Given the description of an element on the screen output the (x, y) to click on. 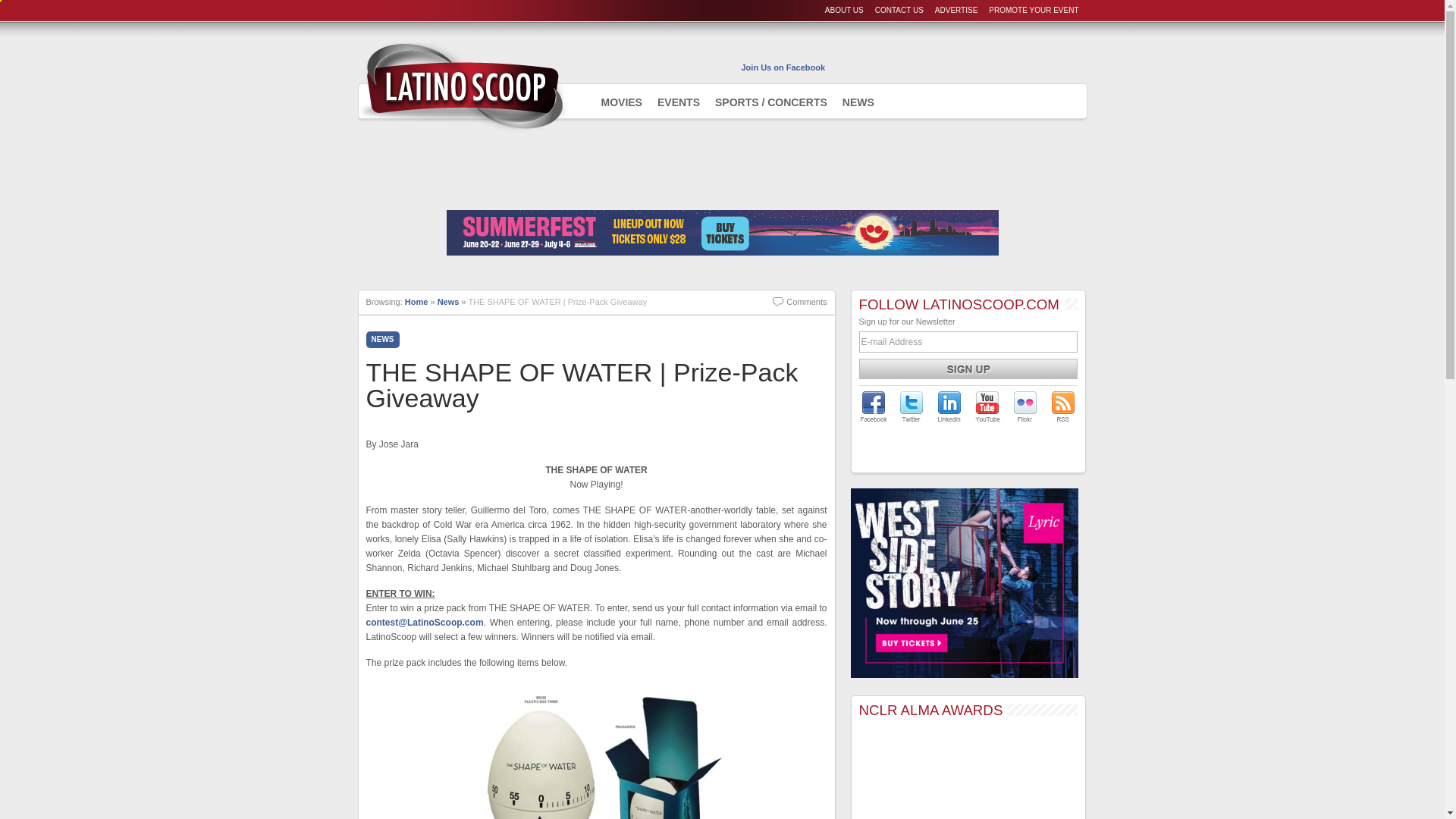
News (449, 301)
ADVERTISE (956, 9)
Advertise (956, 9)
AdmiteUno - Chicago (462, 86)
Promote Your Event (1033, 9)
Comments (800, 301)
YouTube video player (968, 773)
 Subscribe  (968, 368)
View the Comments (800, 301)
Home (416, 301)
